Given the description of an element on the screen output the (x, y) to click on. 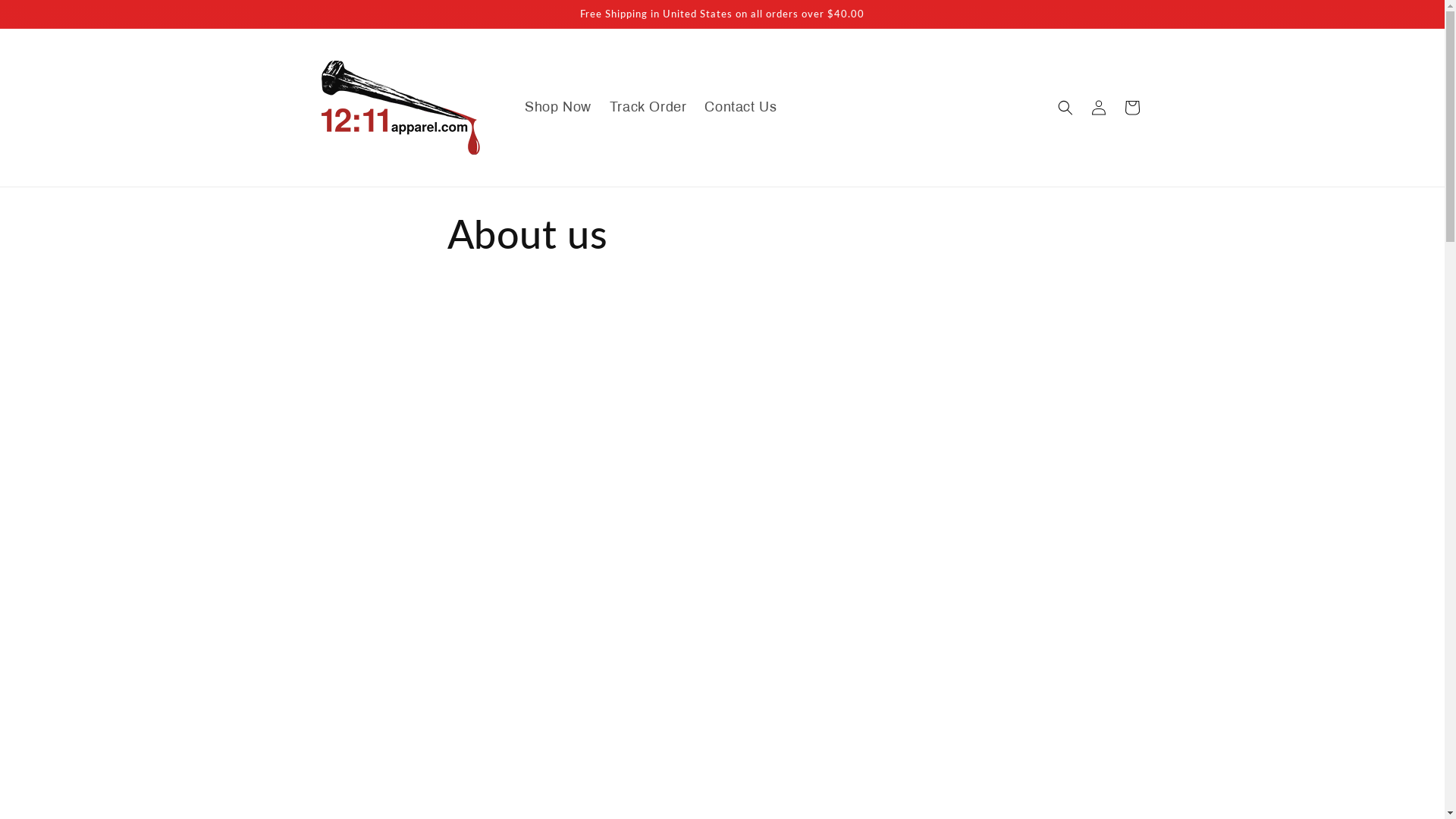
Track Order Element type: text (648, 107)
Cart Element type: text (1131, 107)
Contact Us Element type: text (740, 107)
Shop Now Element type: text (557, 107)
Log in Element type: text (1097, 107)
